Given the description of an element on the screen output the (x, y) to click on. 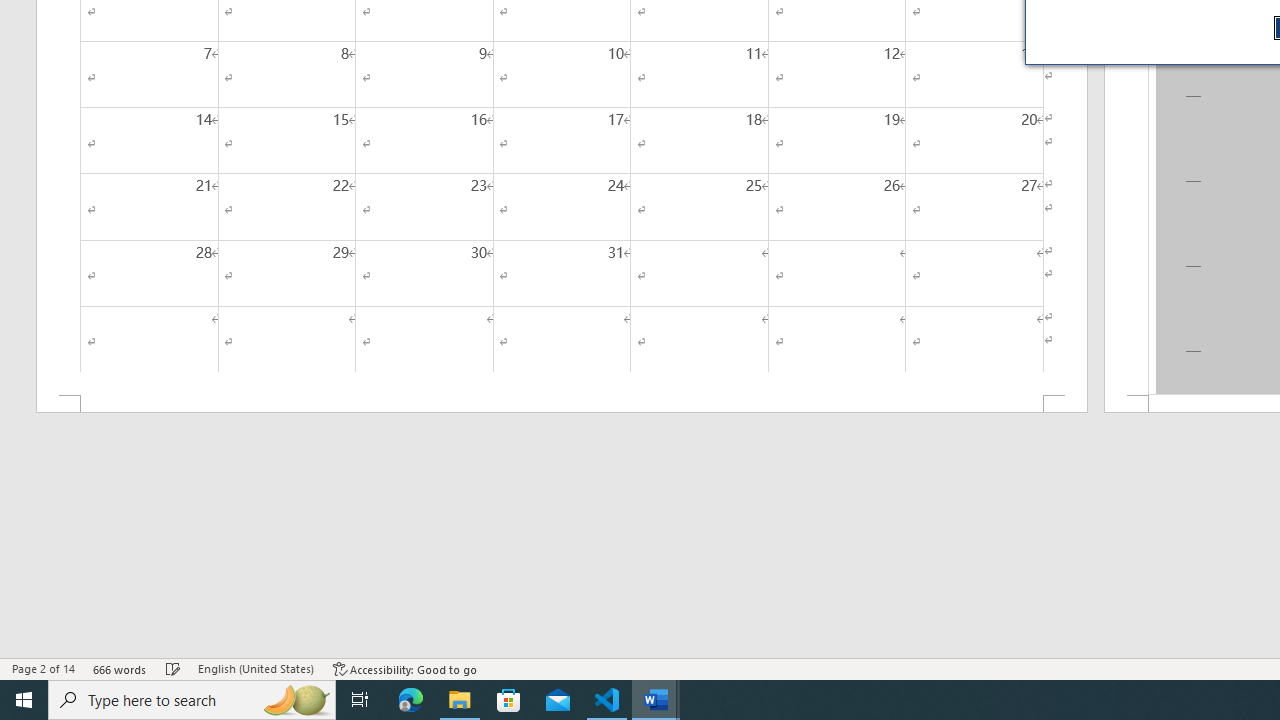
Page Number Page 2 of 14 (43, 668)
